Given the description of an element on the screen output the (x, y) to click on. 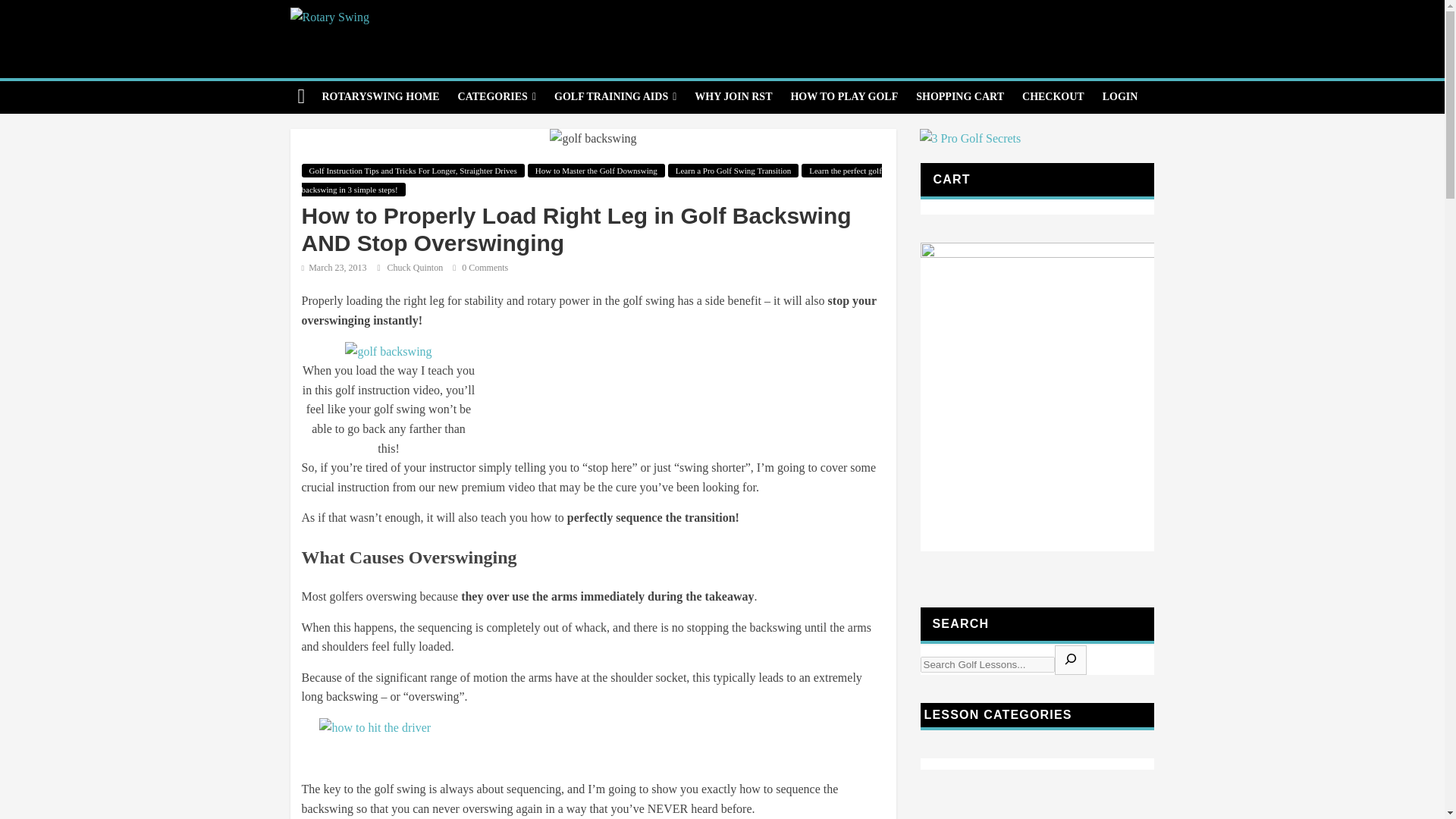
Chuck Quinton (416, 267)
CATEGORIES (496, 97)
Learn the perfect golf backswing in 3 simple steps! (591, 180)
12:03 pm (333, 267)
SHOPPING CART (960, 97)
0 Comments (480, 267)
How to Master the Golf Downswing (596, 170)
how to play golf learn online (843, 97)
GOLF TRAINING AIDS (614, 97)
March 23, 2013 (333, 267)
Learn a Pro Golf Swing Transition (732, 170)
WHY JOIN RST (732, 97)
ROTARYSWING HOME (380, 97)
HOW TO PLAY GOLF (843, 97)
